Given the description of an element on the screen output the (x, y) to click on. 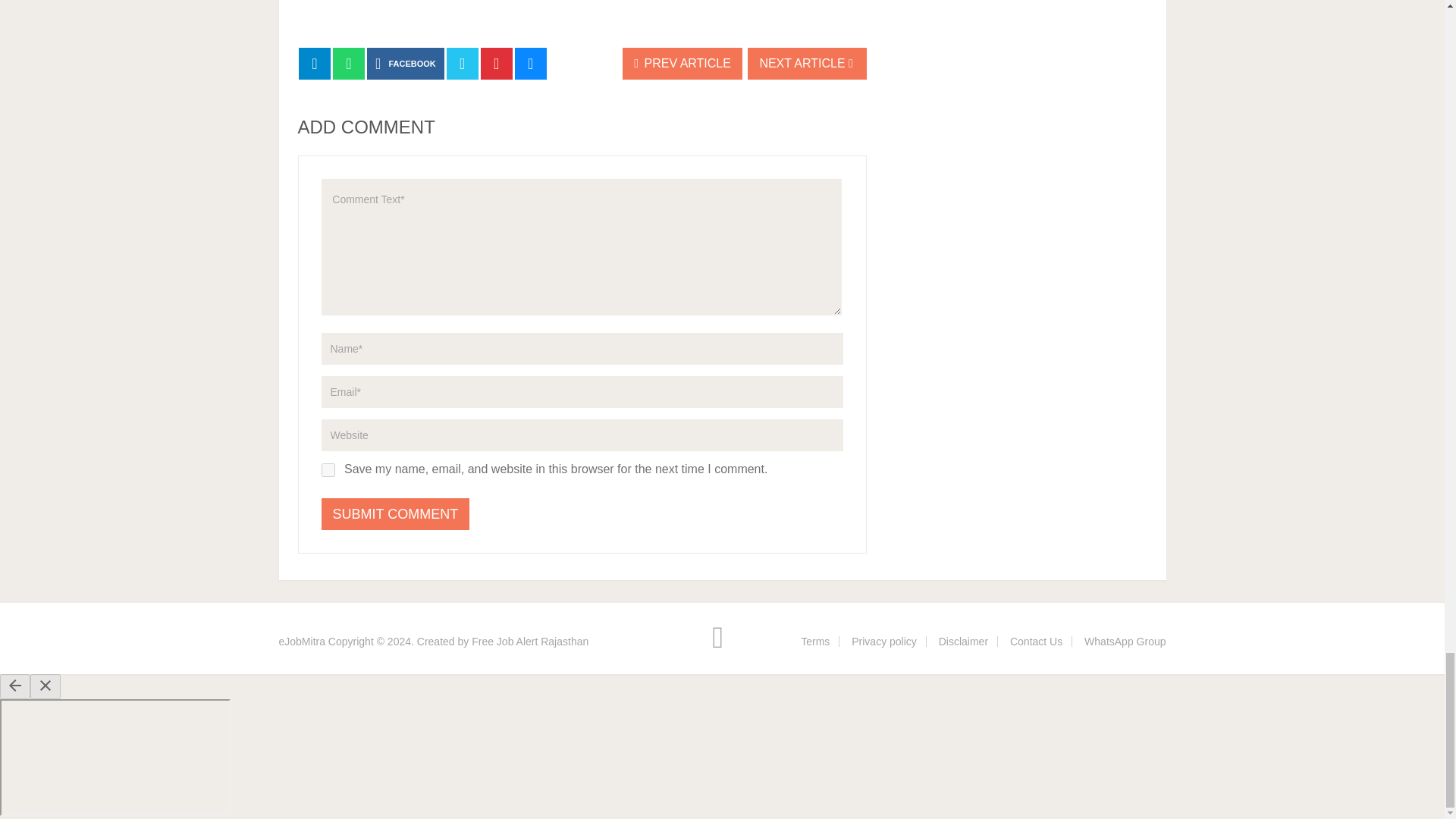
Submit Comment (395, 513)
yes (327, 469)
 Sarkari Result Info 2023 (301, 641)
